Given the description of an element on the screen output the (x, y) to click on. 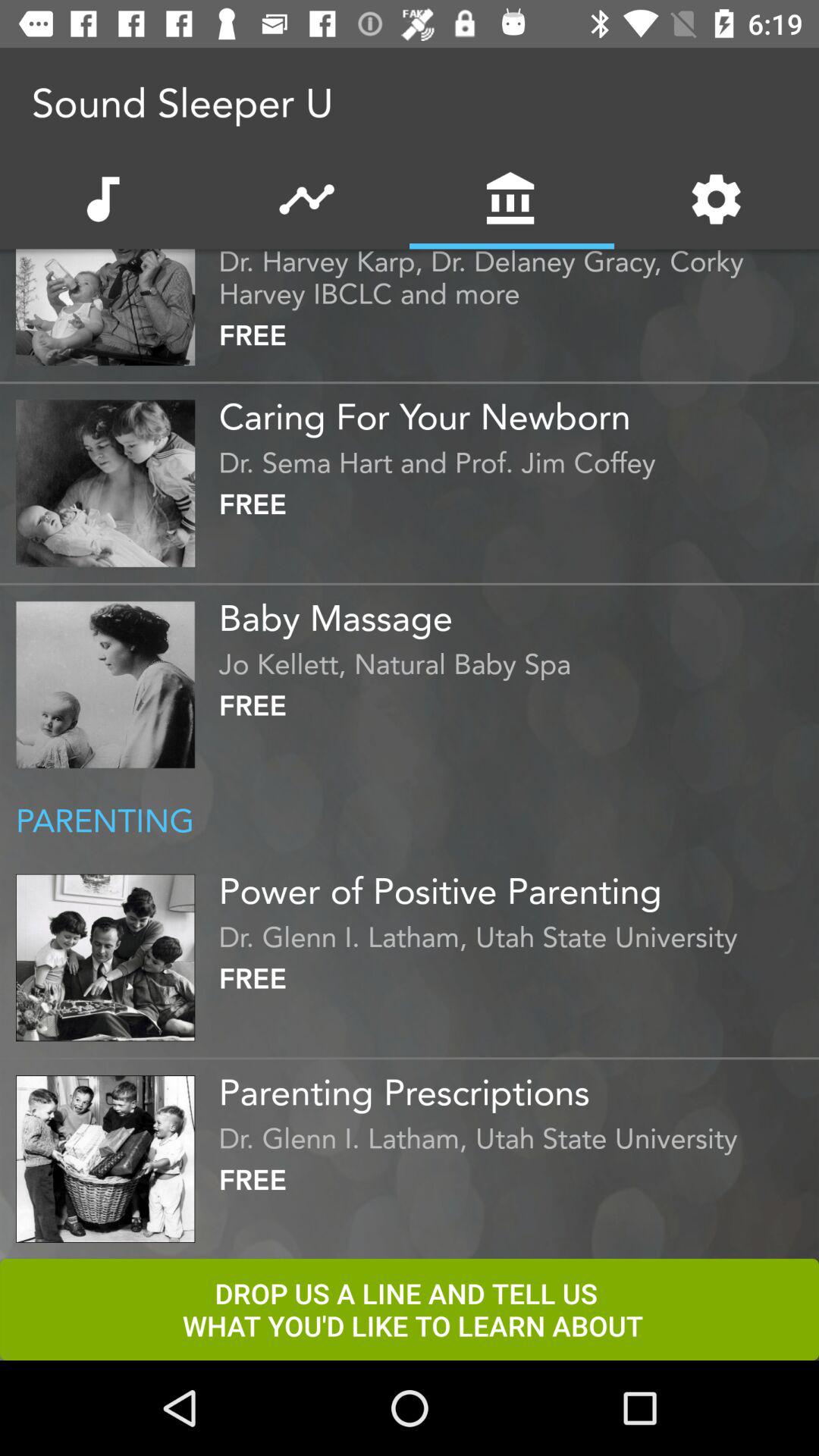
press item below free item (515, 1086)
